Given the description of an element on the screen output the (x, y) to click on. 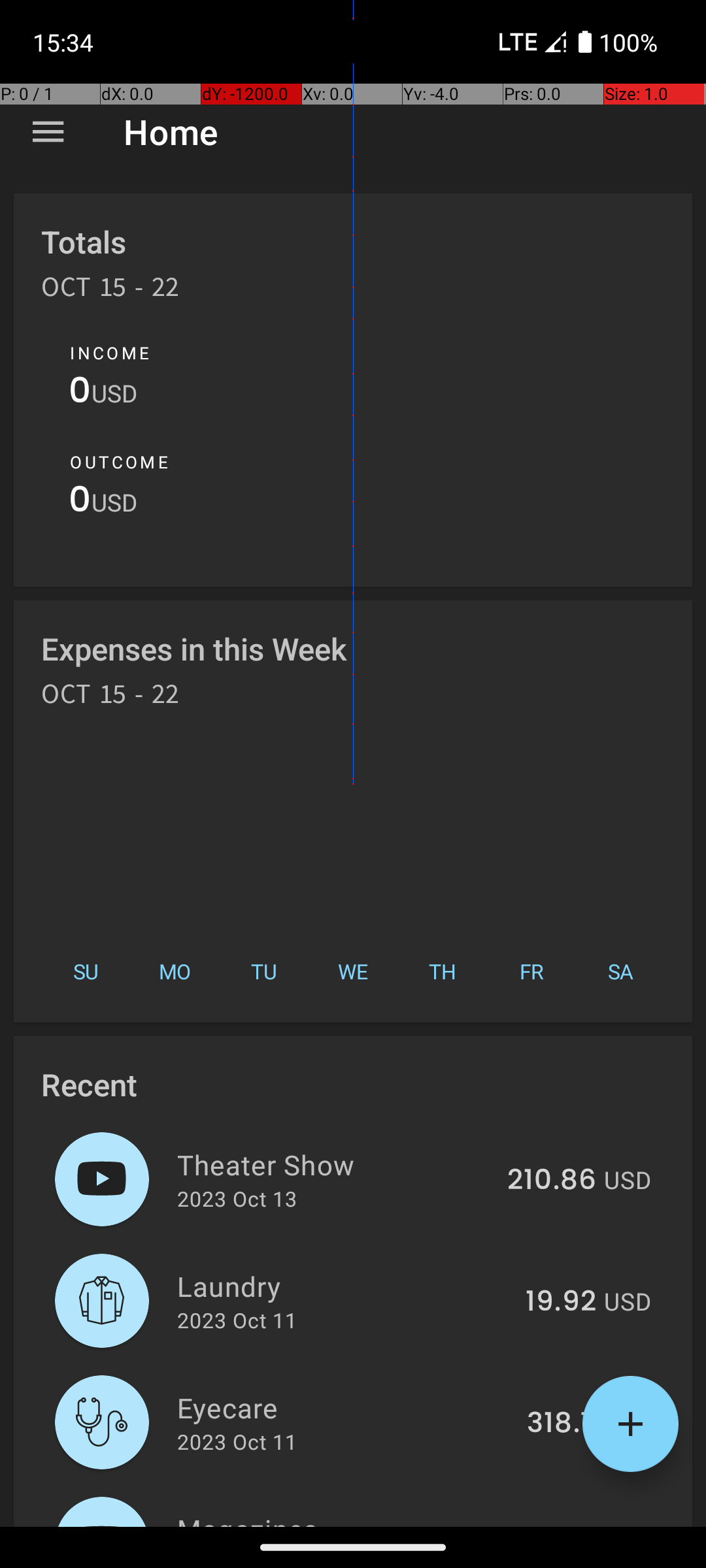
Theater Show Element type: android.widget.TextView (334, 1164)
210.86 Element type: android.widget.TextView (551, 1180)
Laundry Element type: android.widget.TextView (343, 1285)
19.92 Element type: android.widget.TextView (560, 1301)
Eyecare Element type: android.widget.TextView (344, 1407)
318.7 Element type: android.widget.TextView (561, 1423)
Magazines Element type: android.widget.TextView (334, 1518)
163.36 Element type: android.widget.TextView (551, 1524)
